Given the description of an element on the screen output the (x, y) to click on. 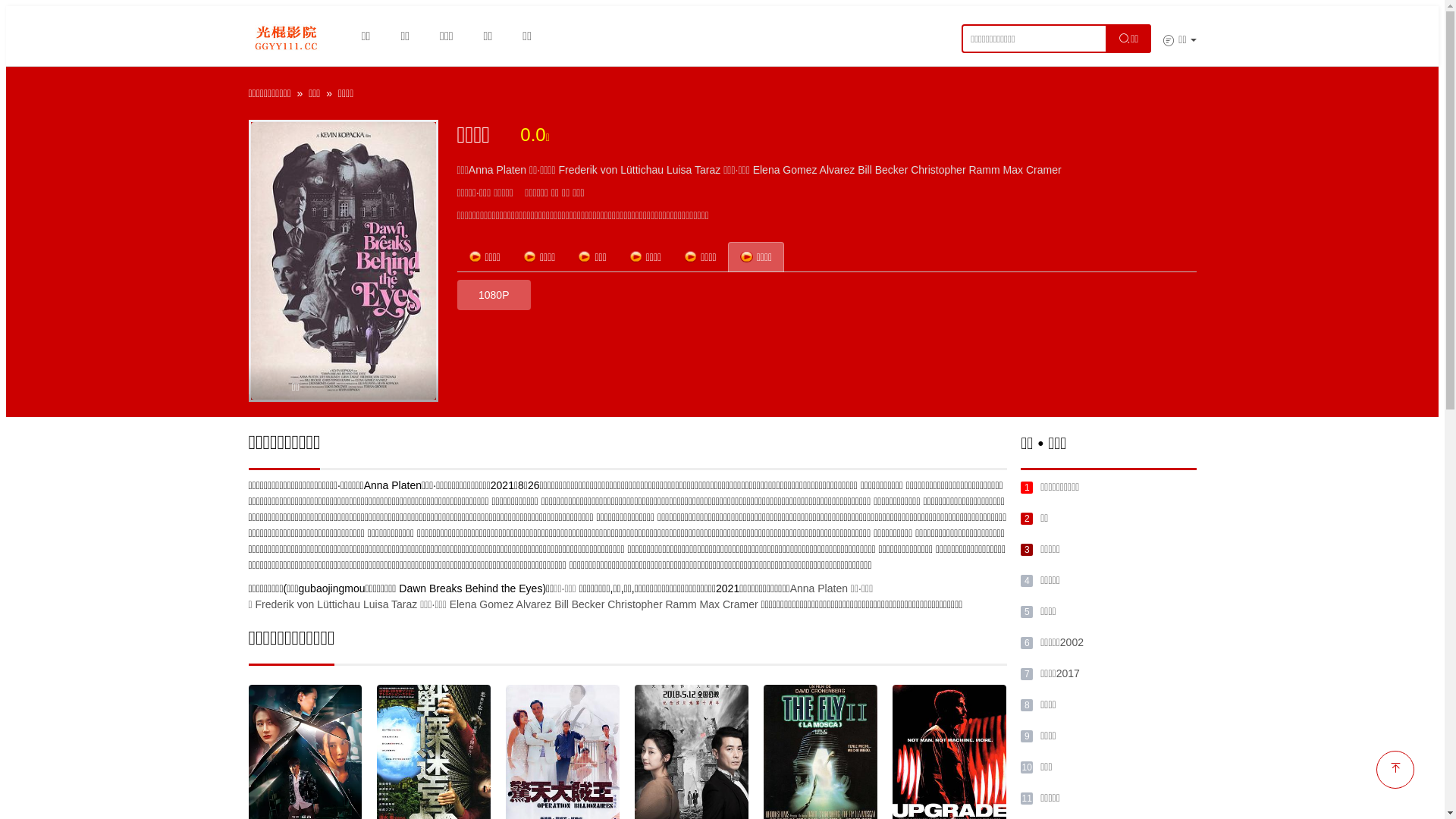
Gomez Element type: text (496, 604)
Ramm Element type: text (680, 604)
Frederik Element type: text (274, 604)
Platen Element type: text (832, 588)
Cramer Element type: text (1043, 169)
Anna Element type: text (802, 588)
Luisa Element type: text (375, 604)
von Element type: text (305, 604)
Becker Element type: text (891, 169)
Taraz Element type: text (404, 604)
Gomez Element type: text (799, 169)
Christopher Element type: text (634, 604)
Bill Element type: text (864, 169)
Bill Element type: text (561, 604)
Max Element type: text (1012, 169)
Alvarez Element type: text (534, 604)
Platen Element type: text (510, 169)
Elena Element type: text (462, 604)
Becker Element type: text (588, 604)
Christopher Element type: text (937, 169)
Luisa Element type: text (678, 169)
Anna Element type: text (480, 169)
Cramer Element type: text (740, 604)
Max Element type: text (709, 604)
logo Element type: hover (285, 36)
Taraz Element type: text (707, 169)
Ramm Element type: text (983, 169)
1080P Element type: text (493, 294)
Frederik Element type: text (577, 169)
Elena Element type: text (766, 169)
Alvarez Element type: text (837, 169)
von Element type: text (609, 169)
